Given the description of an element on the screen output the (x, y) to click on. 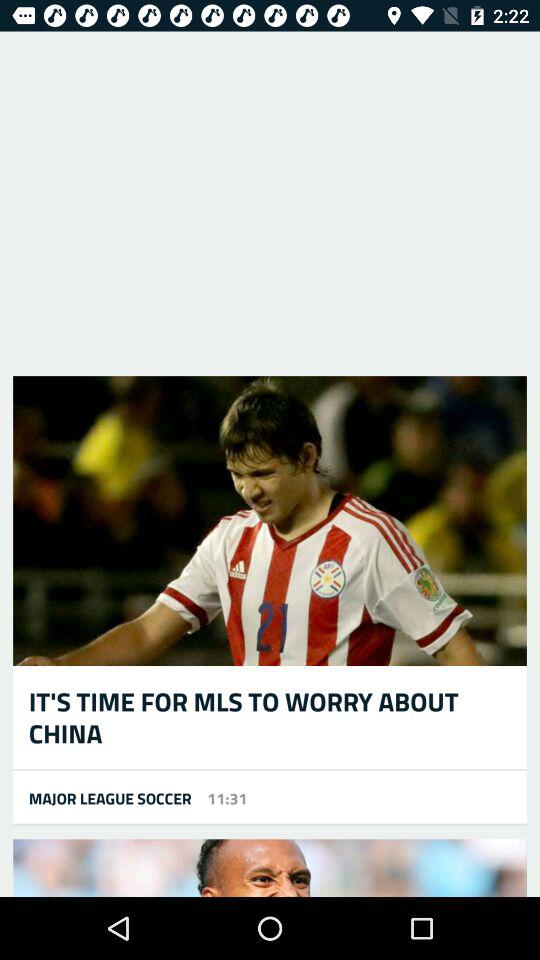
open the icon to the left of 11:31 icon (102, 798)
